Given the description of an element on the screen output the (x, y) to click on. 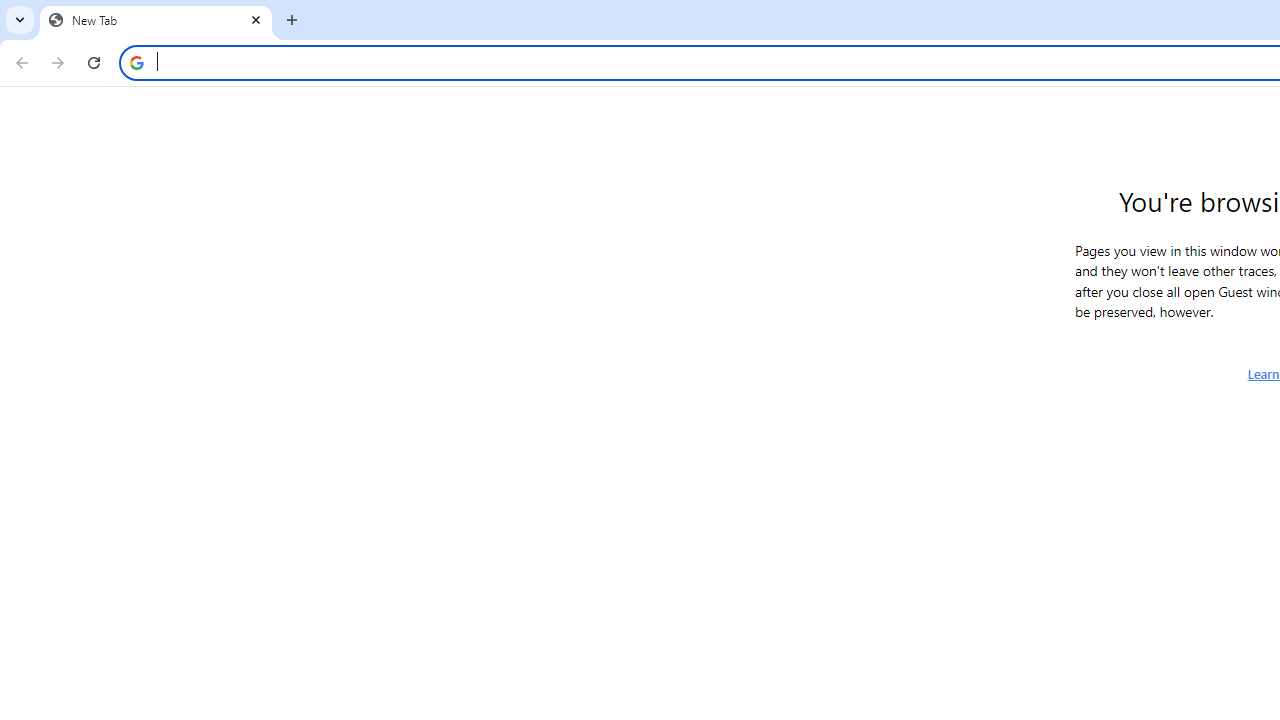
Search icon (136, 62)
New Tab (156, 20)
